Given the description of an element on the screen output the (x, y) to click on. 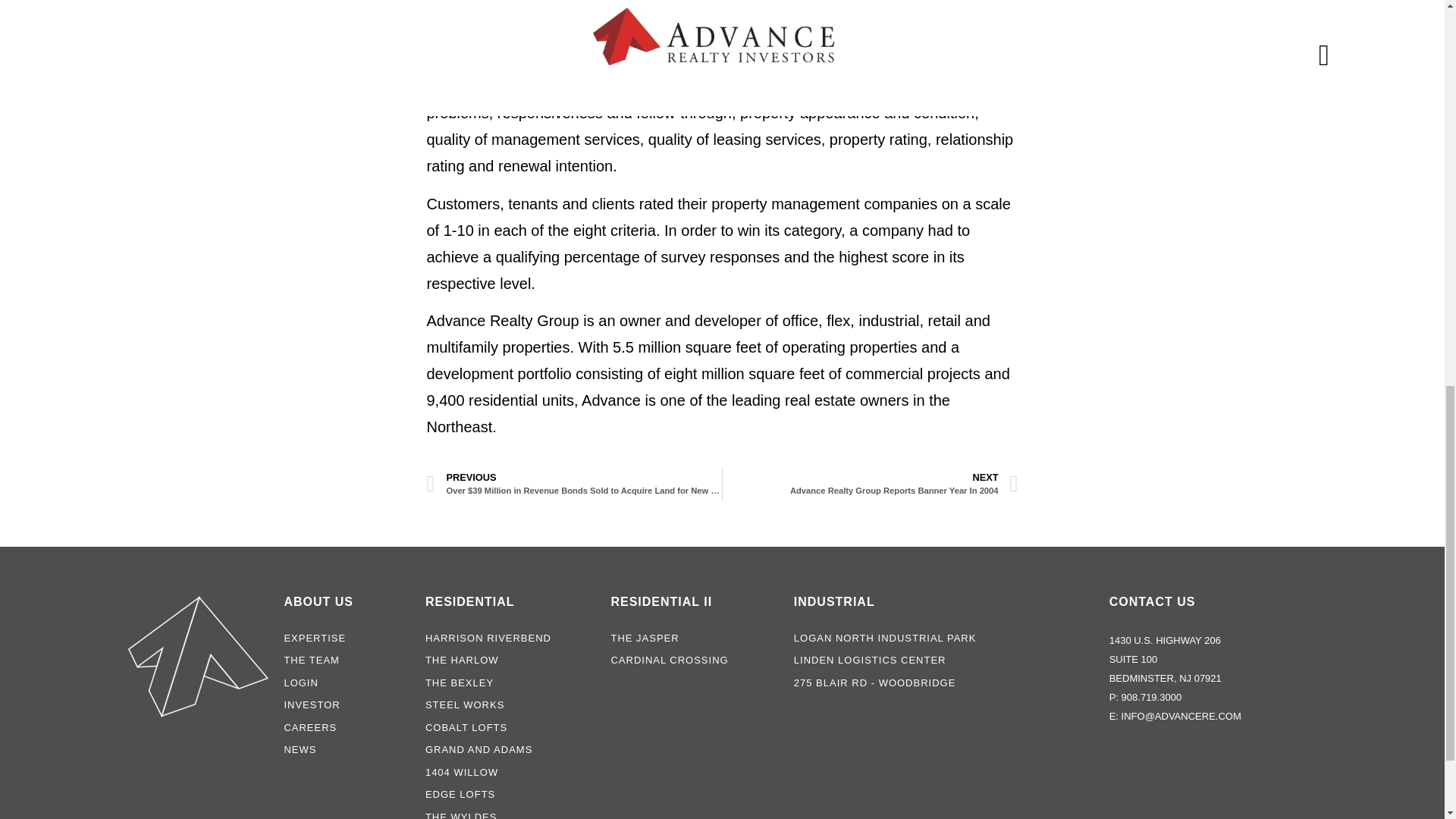
THE TEAM (869, 483)
1404 WILLOW (346, 660)
EXPERTISE (510, 772)
EDGE LOFTS (346, 638)
STEEL WORKS (510, 794)
CARDINAL CROSSING (510, 704)
THE HARLOW (693, 660)
THE BEXLEY (510, 660)
LOGIN (510, 683)
